Given the description of an element on the screen output the (x, y) to click on. 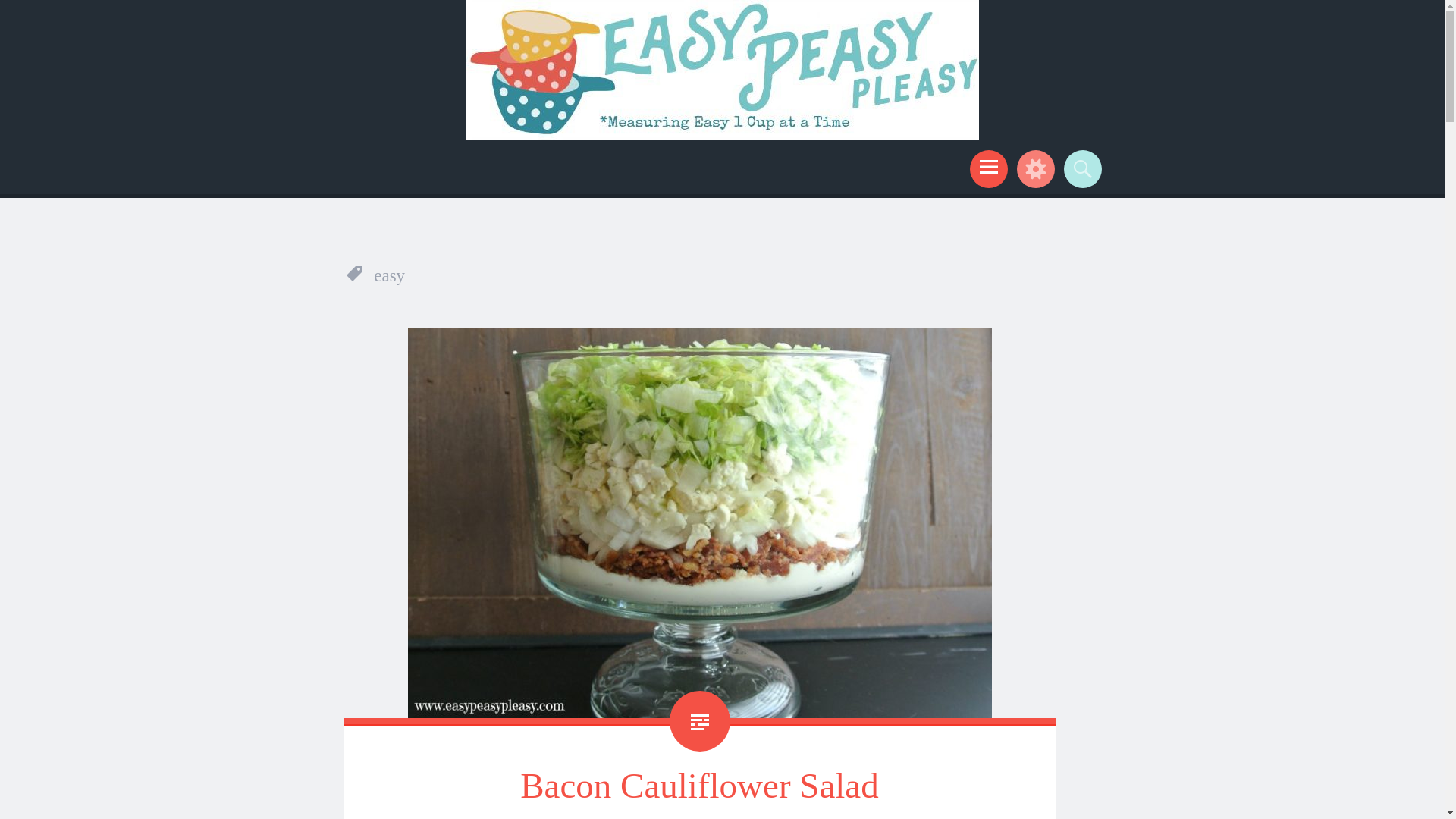
Search (1080, 168)
Easy Peasy Pleasy (406, 158)
Menu (985, 168)
Widgets (1032, 168)
